Given the description of an element on the screen output the (x, y) to click on. 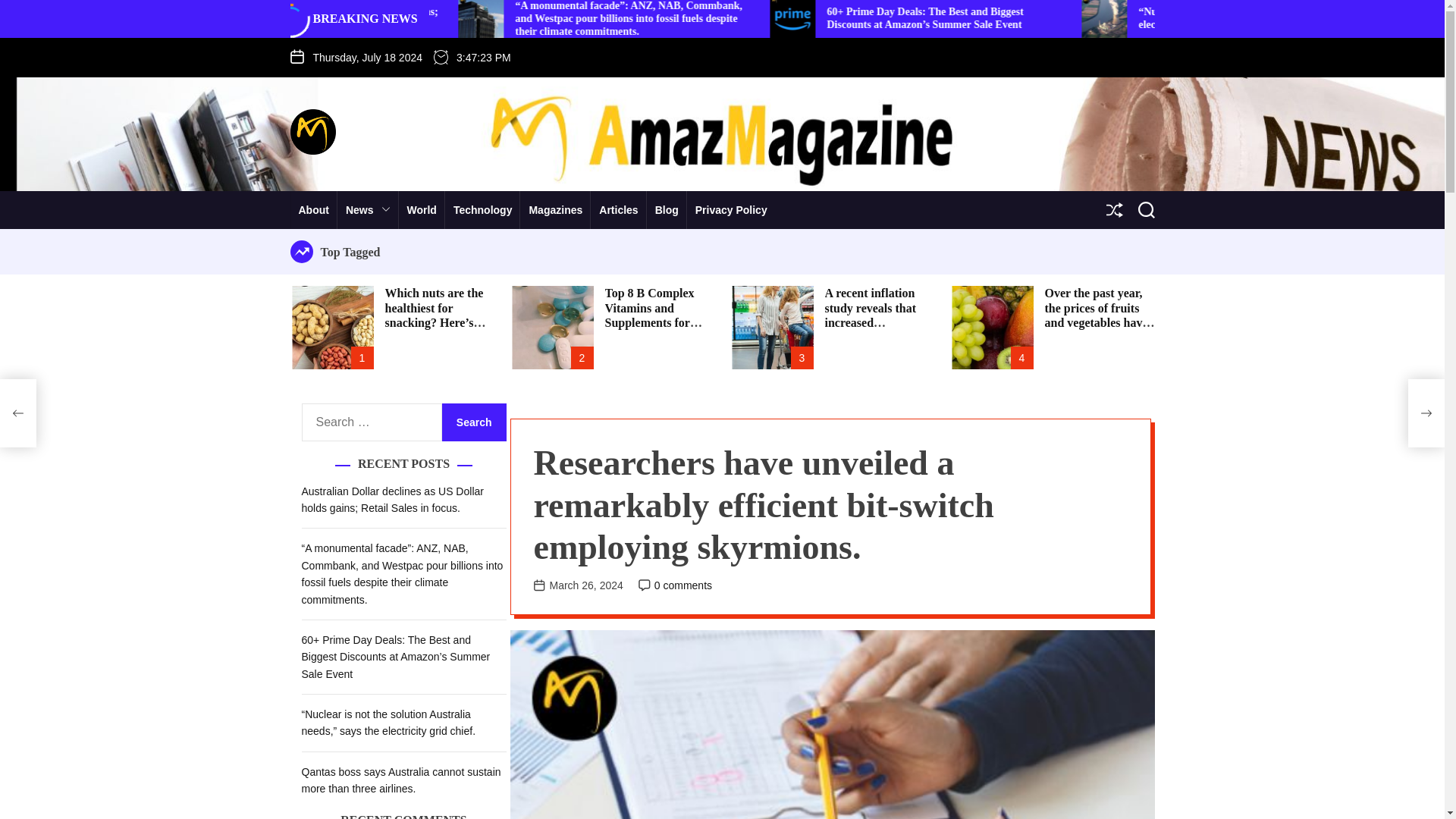
Search (474, 422)
Search (474, 422)
About (312, 209)
